Given the description of an element on the screen output the (x, y) to click on. 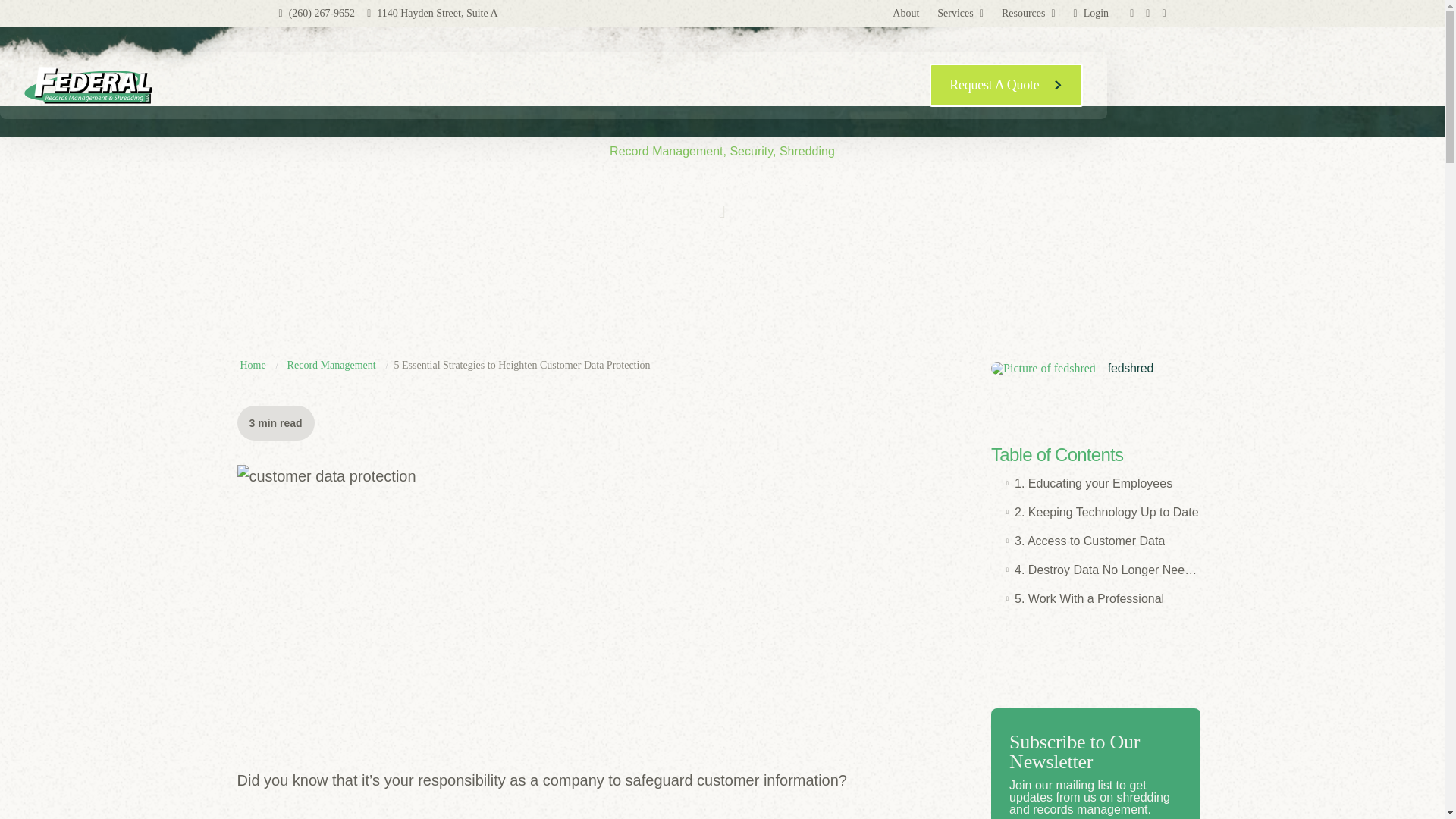
1140 Hayden Street, Suite A (431, 12)
Security (526, 84)
Contact Us (659, 84)
5 Essential Strategies to Heighten Customer Data Protection (522, 365)
Login (1091, 13)
Request A Quote (1006, 85)
Record Management (330, 365)
Records Management (434, 84)
Home (251, 365)
Resources (1028, 13)
About (905, 13)
Secure Shredding (304, 84)
Services (960, 13)
Our Team (590, 84)
